Given the description of an element on the screen output the (x, y) to click on. 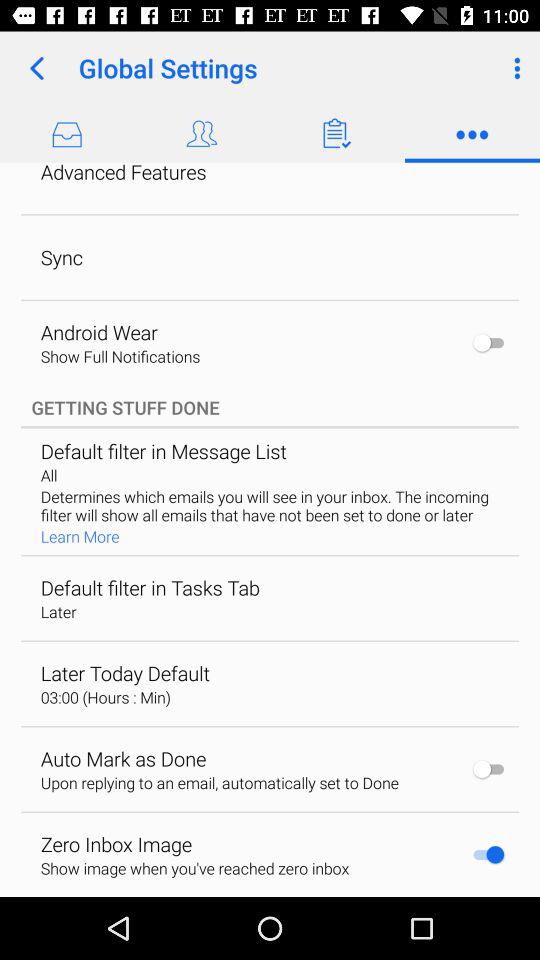
turn on icon above auto mark as item (105, 697)
